Given the description of an element on the screen output the (x, y) to click on. 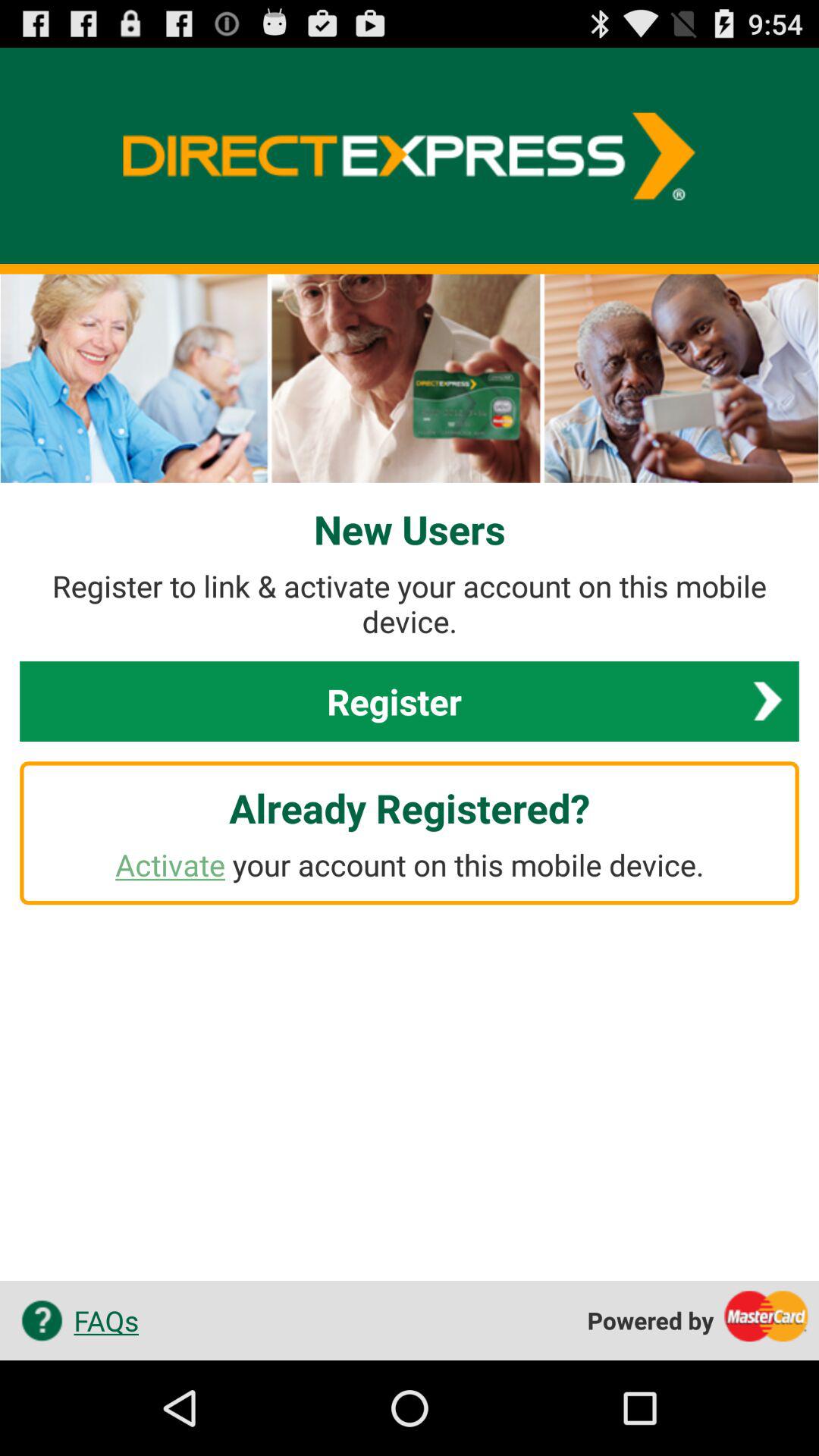
turn on the app to the left of the powered by (74, 1320)
